Given the description of an element on the screen output the (x, y) to click on. 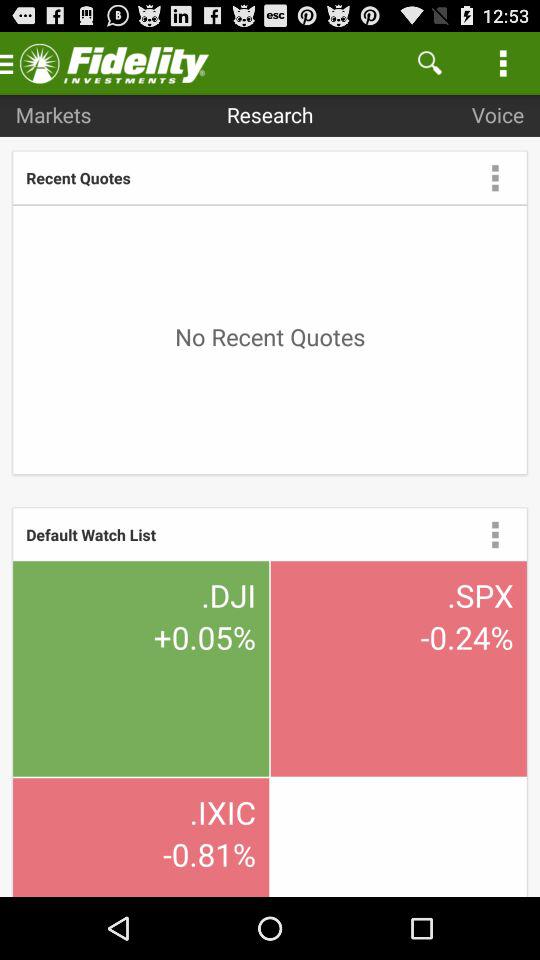
turn on the voice app (497, 114)
